Given the description of an element on the screen output the (x, y) to click on. 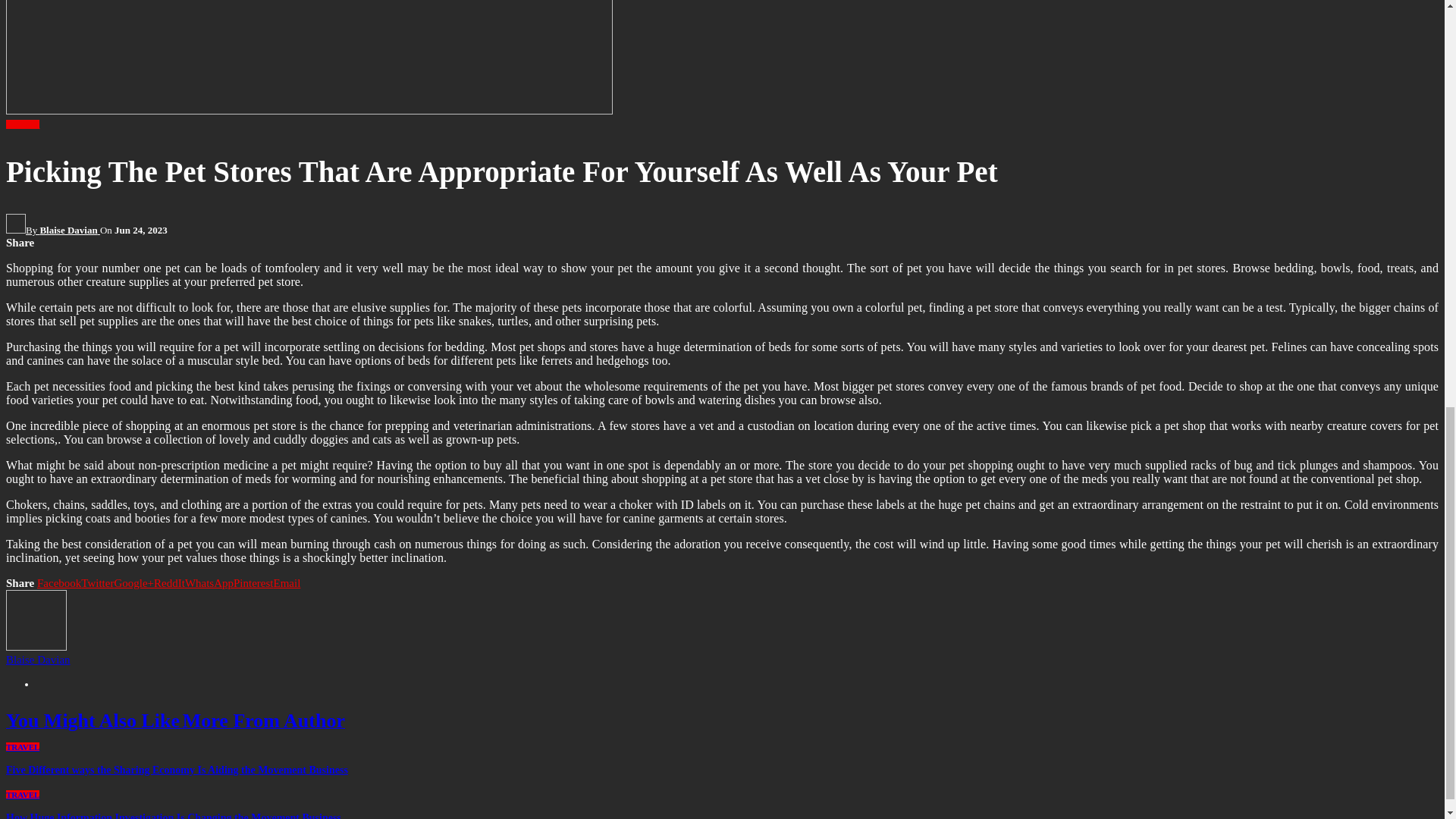
TRAVEL (22, 123)
By Blaise Davian (52, 229)
Facebook (59, 582)
More From Author (264, 723)
Browse Author Articles (52, 229)
Email (287, 582)
Blaise Davian (37, 659)
Browse Author Articles (35, 646)
Twitter (97, 582)
ReddIt (169, 582)
